Given the description of an element on the screen output the (x, y) to click on. 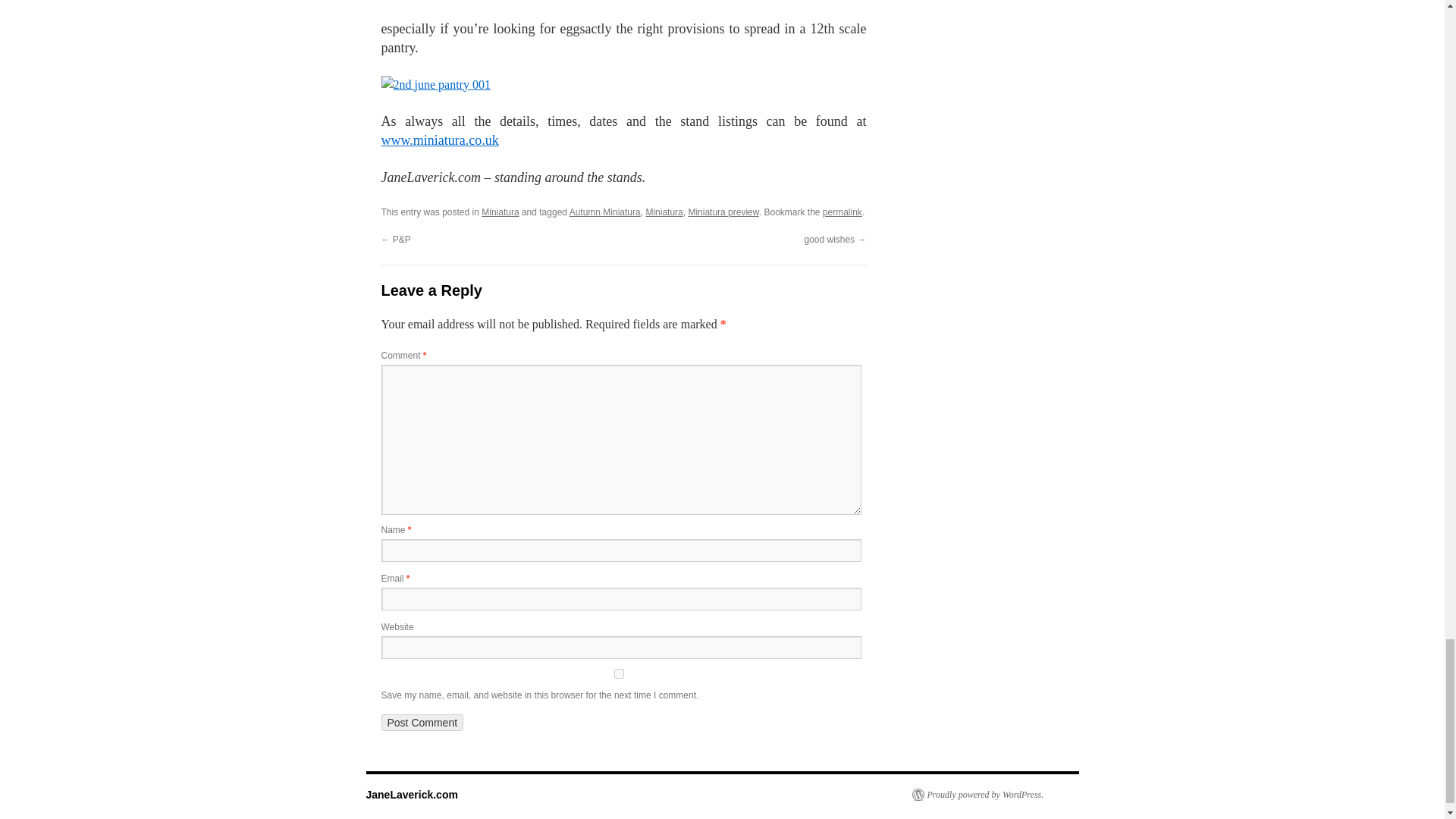
Miniatura (499, 212)
Miniatura preview (722, 212)
yes (618, 673)
www.miniatura.co.uk (438, 140)
permalink (841, 212)
Miniatura (663, 212)
2nd june pantry 001 (434, 85)
Autumn Miniatura (604, 212)
Post Comment (421, 722)
Post Comment (421, 722)
P1000221 (411, 0)
